Given the description of an element on the screen output the (x, y) to click on. 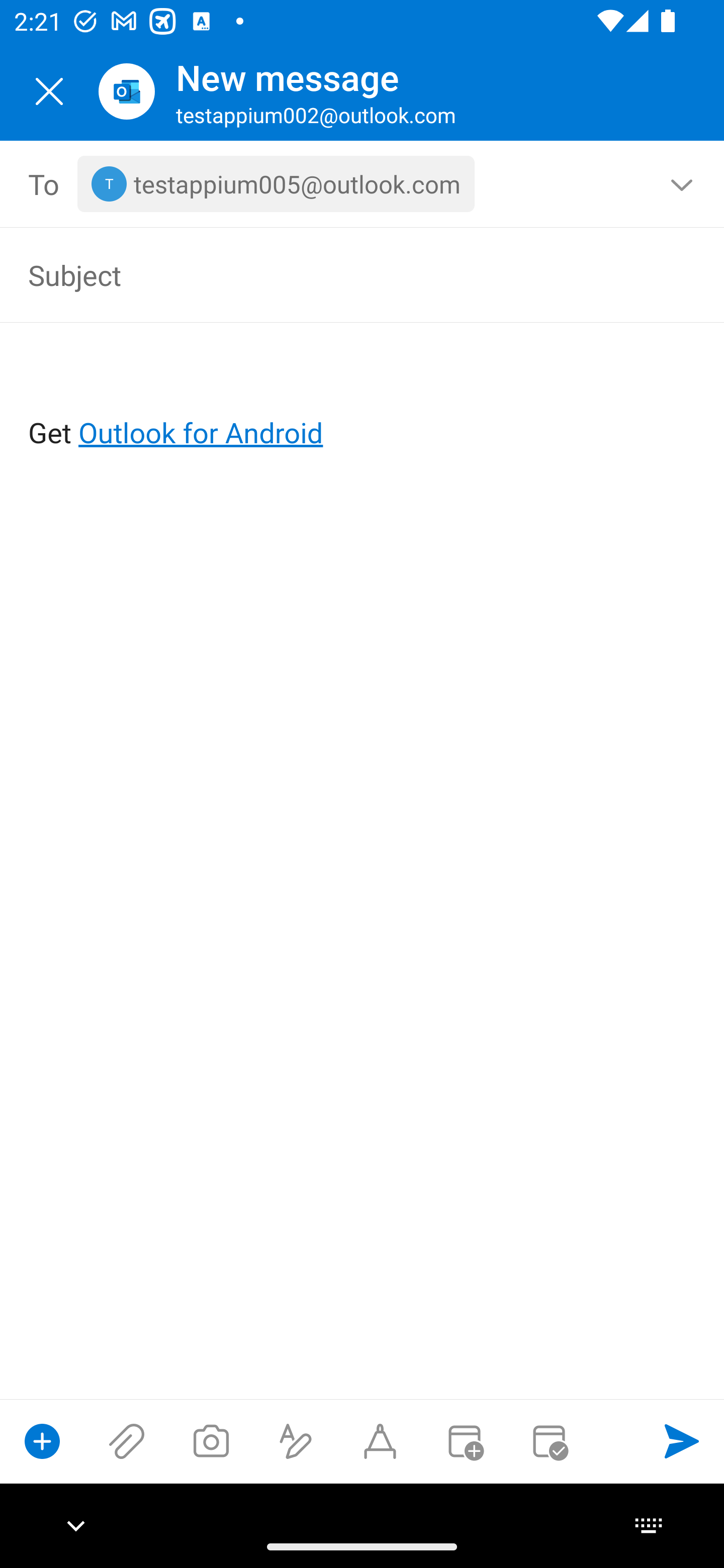
Close (49, 91)
Subject (333, 274)


Get Outlook for Android (363, 400)
Show compose options (42, 1440)
Attach files (126, 1440)
Take a photo (210, 1440)
Show formatting options (295, 1440)
Start Ink compose (380, 1440)
Convert to event (464, 1440)
Send availability (548, 1440)
Send (681, 1440)
